Given the description of an element on the screen output the (x, y) to click on. 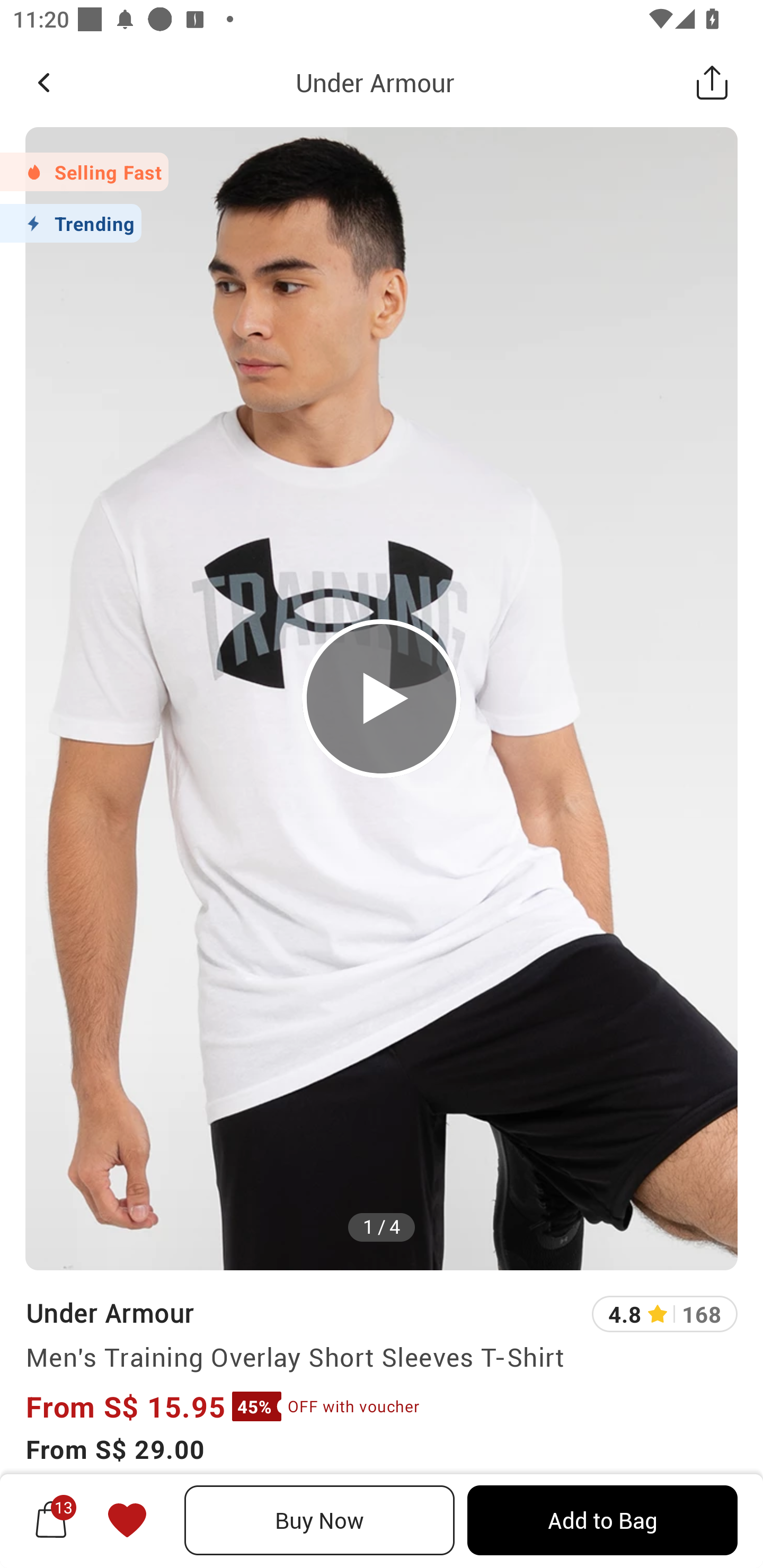
Under Armour (375, 82)
Share this Product (711, 82)
Under Armour (109, 1312)
4.8 168 (664, 1313)
Buy Now (319, 1519)
Add to Bag (601, 1519)
13 (50, 1520)
